Given the description of an element on the screen output the (x, y) to click on. 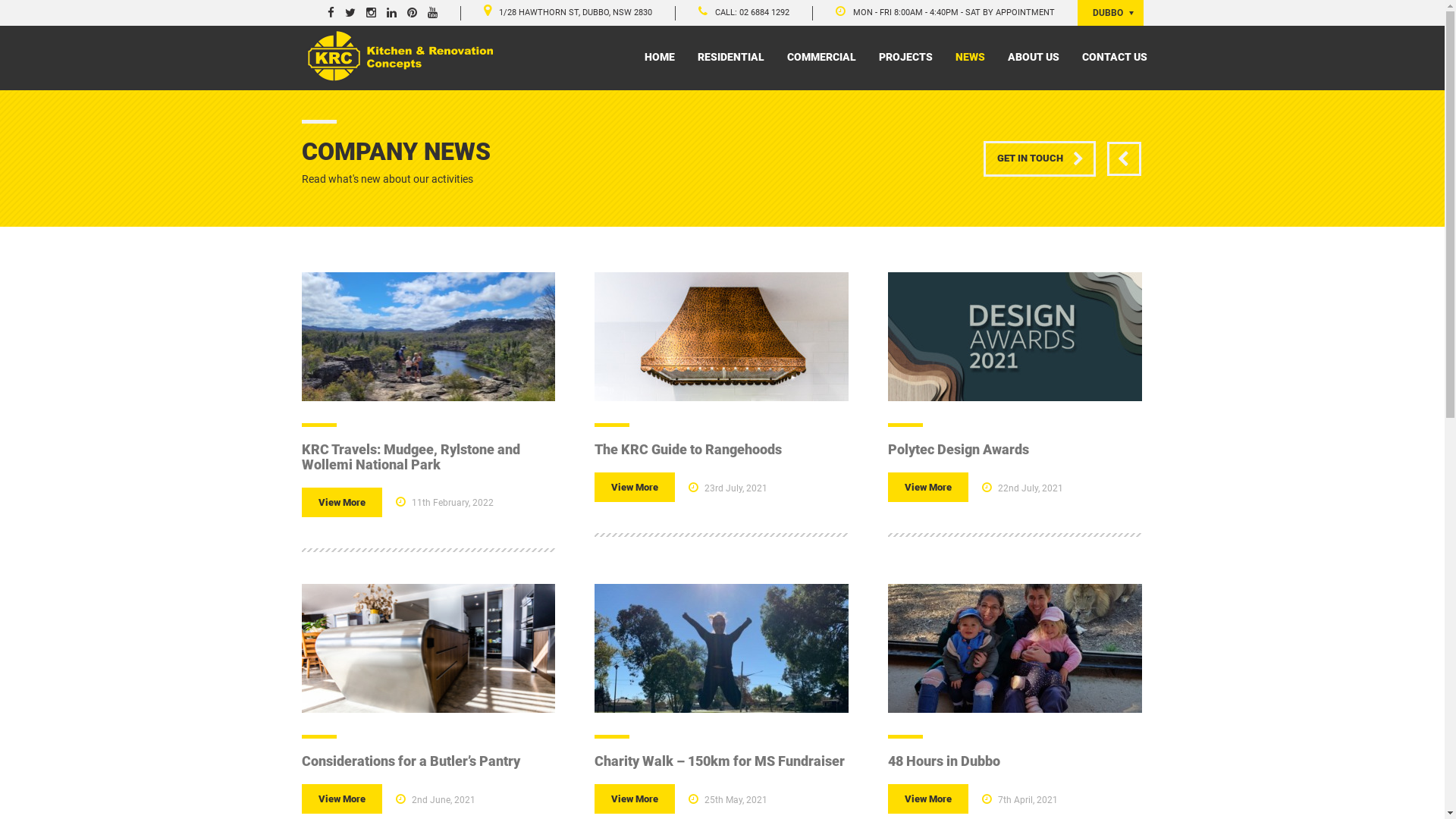
View More Element type: text (341, 502)
View More Element type: text (928, 799)
GET IN TOUCH Element type: text (1038, 158)
HOME Element type: text (658, 56)
PROJECTS Element type: text (905, 56)
COMMERCIAL Element type: text (820, 56)
Polytec Design Awards Element type: text (958, 449)
Privacy Policy Element type: text (610, 778)
View More Element type: text (634, 487)
ABOUT US Element type: text (1033, 56)
View More Element type: text (341, 799)
COMMERCIAL Element type: text (918, 618)
info@krc.com.au Element type: text (635, 660)
RESIDENTIAL Element type: text (730, 56)
PROJECTS Element type: text (911, 642)
CONTACT US Element type: text (1114, 56)
48 Hours in Dubbo Element type: text (944, 760)
View More Element type: text (928, 487)
NEWS Element type: text (900, 666)
View More Element type: text (634, 799)
NEWS Element type: text (969, 56)
RESIDENTIAL Element type: text (917, 593)
The KRC Guide to Rangehoods Element type: text (687, 449)
CONTACT US Element type: text (917, 715)
ABOUT US Element type: text (911, 690)
KRC Travels: Mudgee, Rylstone and Wollemi National Park Element type: text (410, 456)
